Given the description of an element on the screen output the (x, y) to click on. 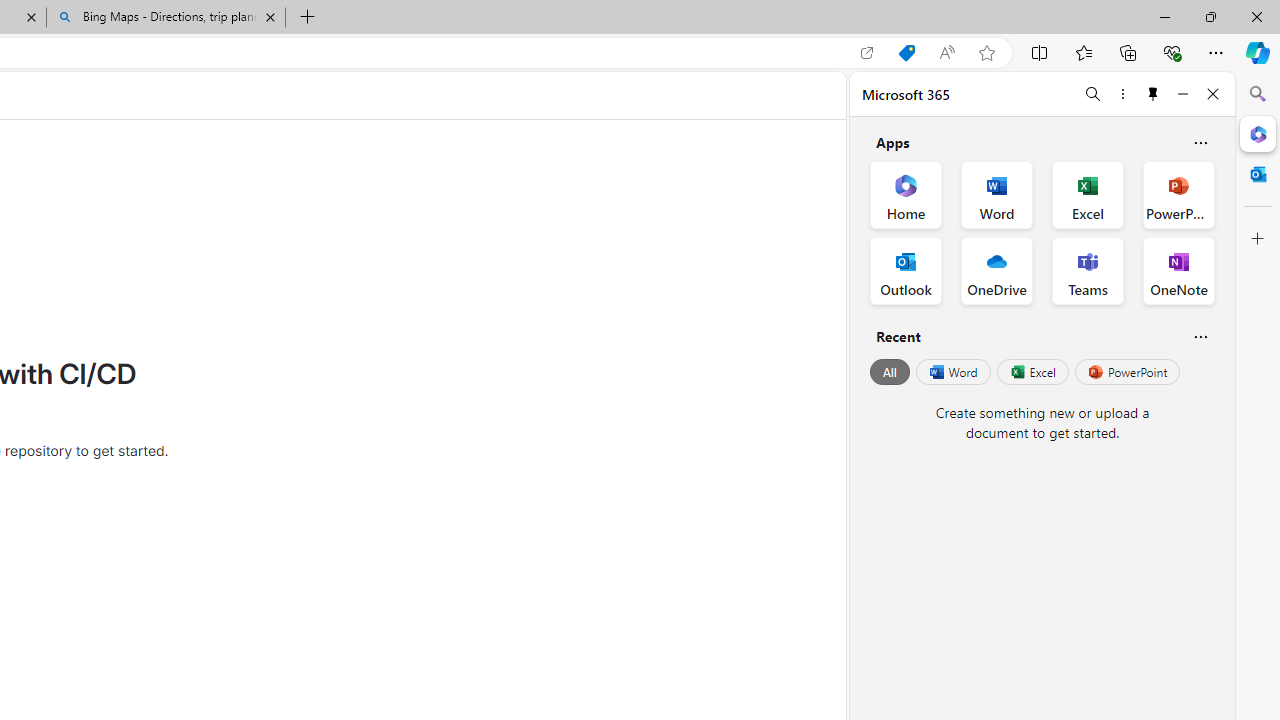
All (890, 372)
Excel (1031, 372)
Outlook Office App (906, 270)
Word (952, 372)
OneNote Office App (1178, 270)
Excel Office App (1087, 194)
Word Office App (996, 194)
